Given the description of an element on the screen output the (x, y) to click on. 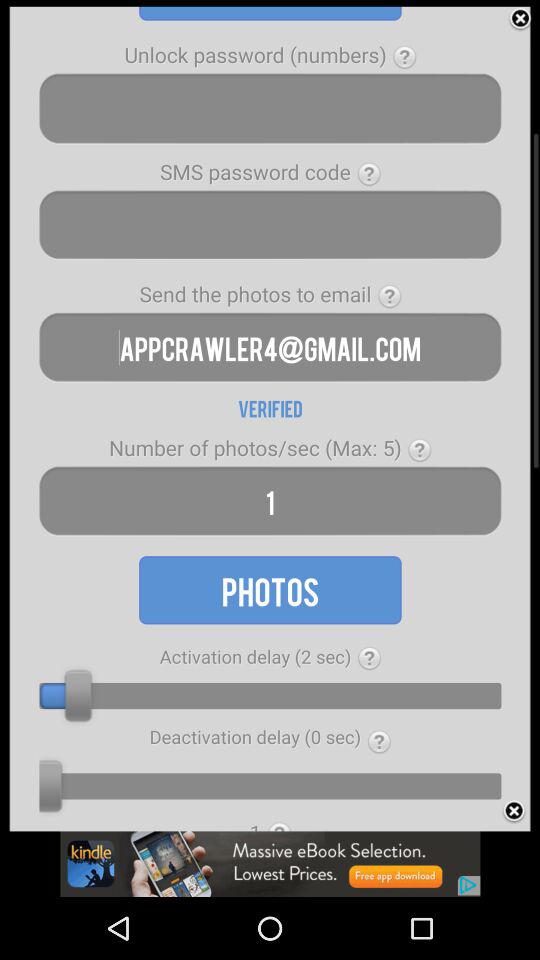
go to password box (270, 224)
